Given the description of an element on the screen output the (x, y) to click on. 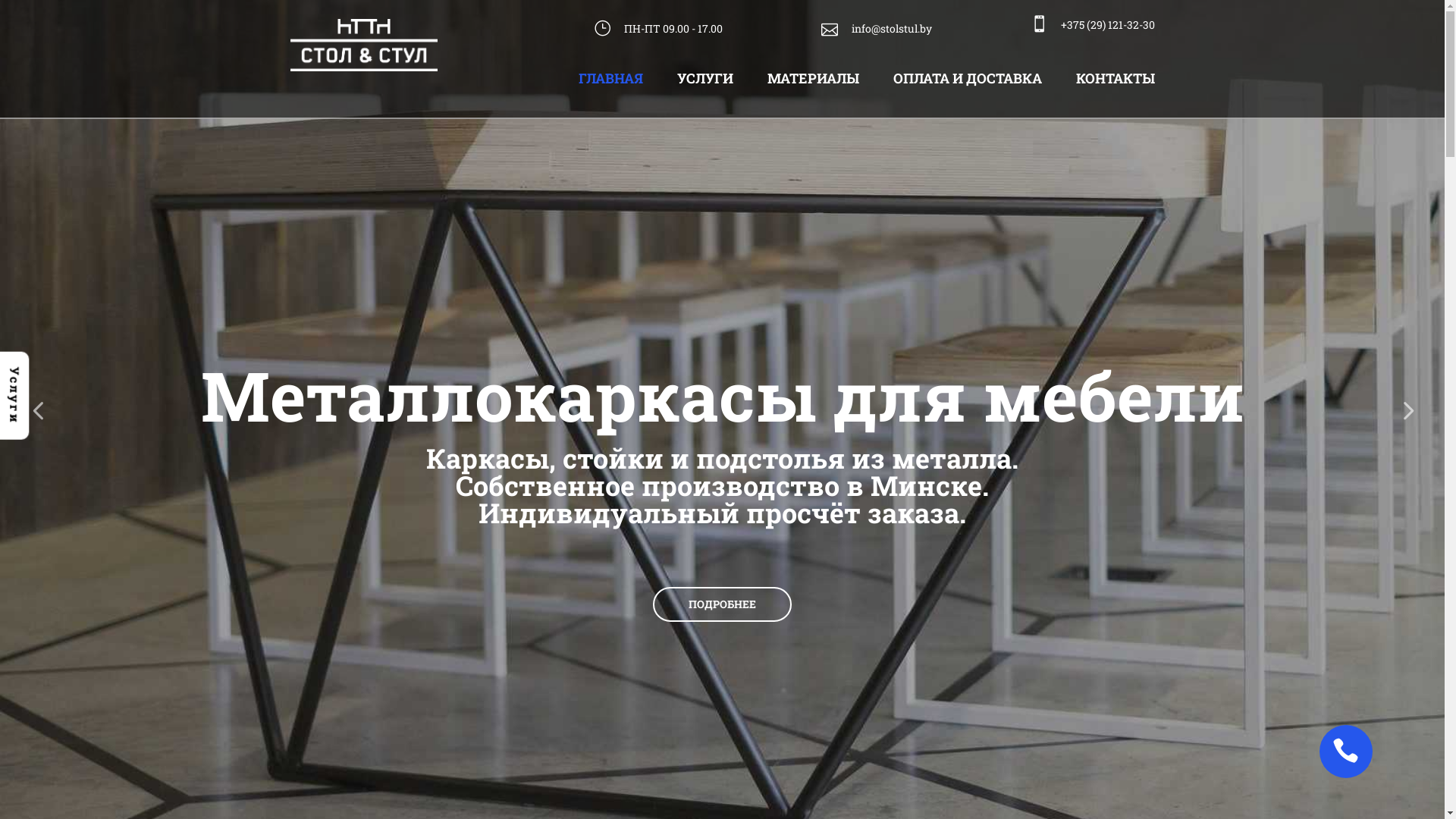
+375 (29) 121-32-30 Element type: text (1091, 24)
info@stolstul.by Element type: text (875, 28)
